Given the description of an element on the screen output the (x, y) to click on. 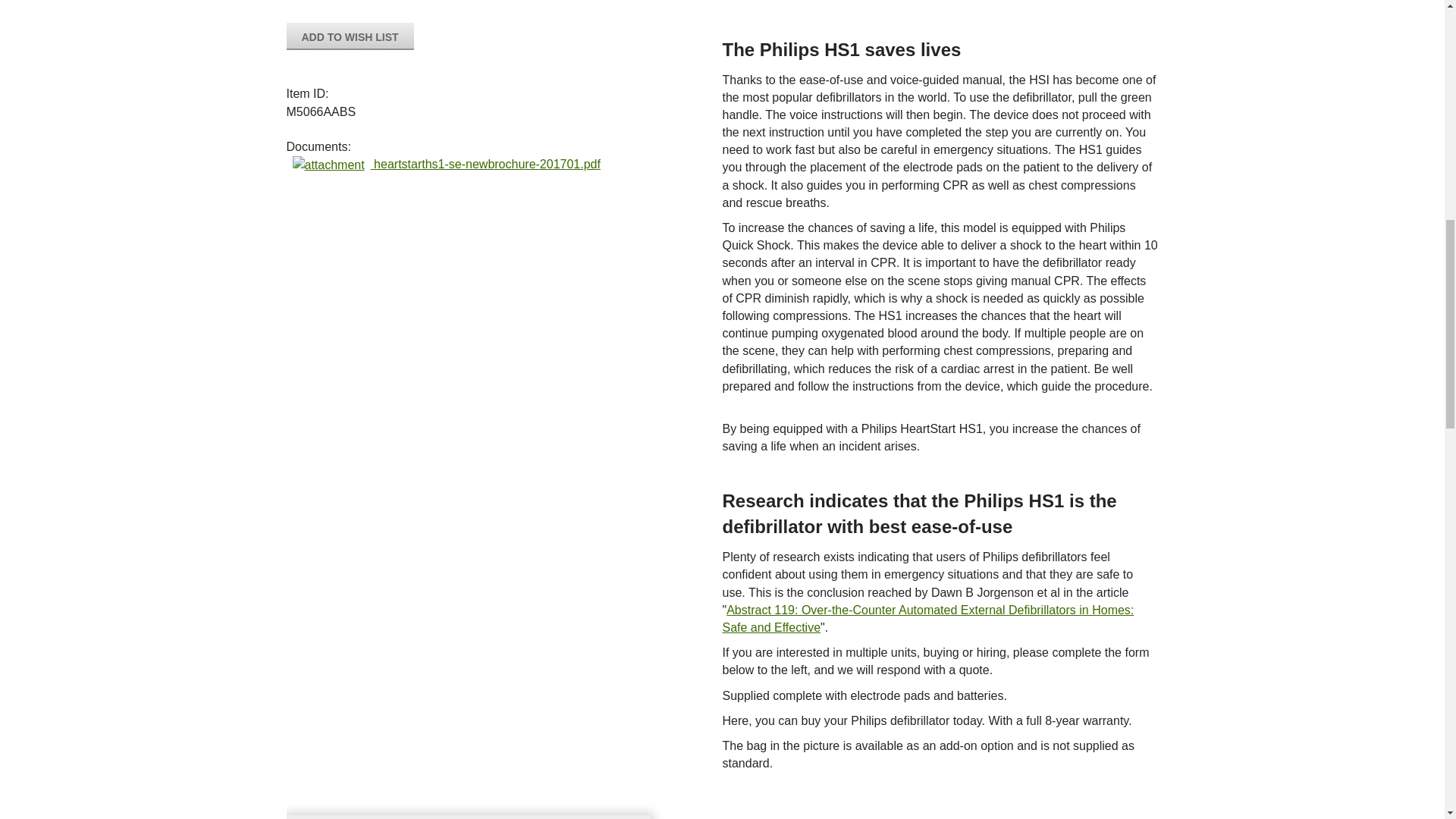
heartstarths1-se-newbrochure-201701.pdf (442, 164)
ADD TO WISH LIST (349, 35)
